Given the description of an element on the screen output the (x, y) to click on. 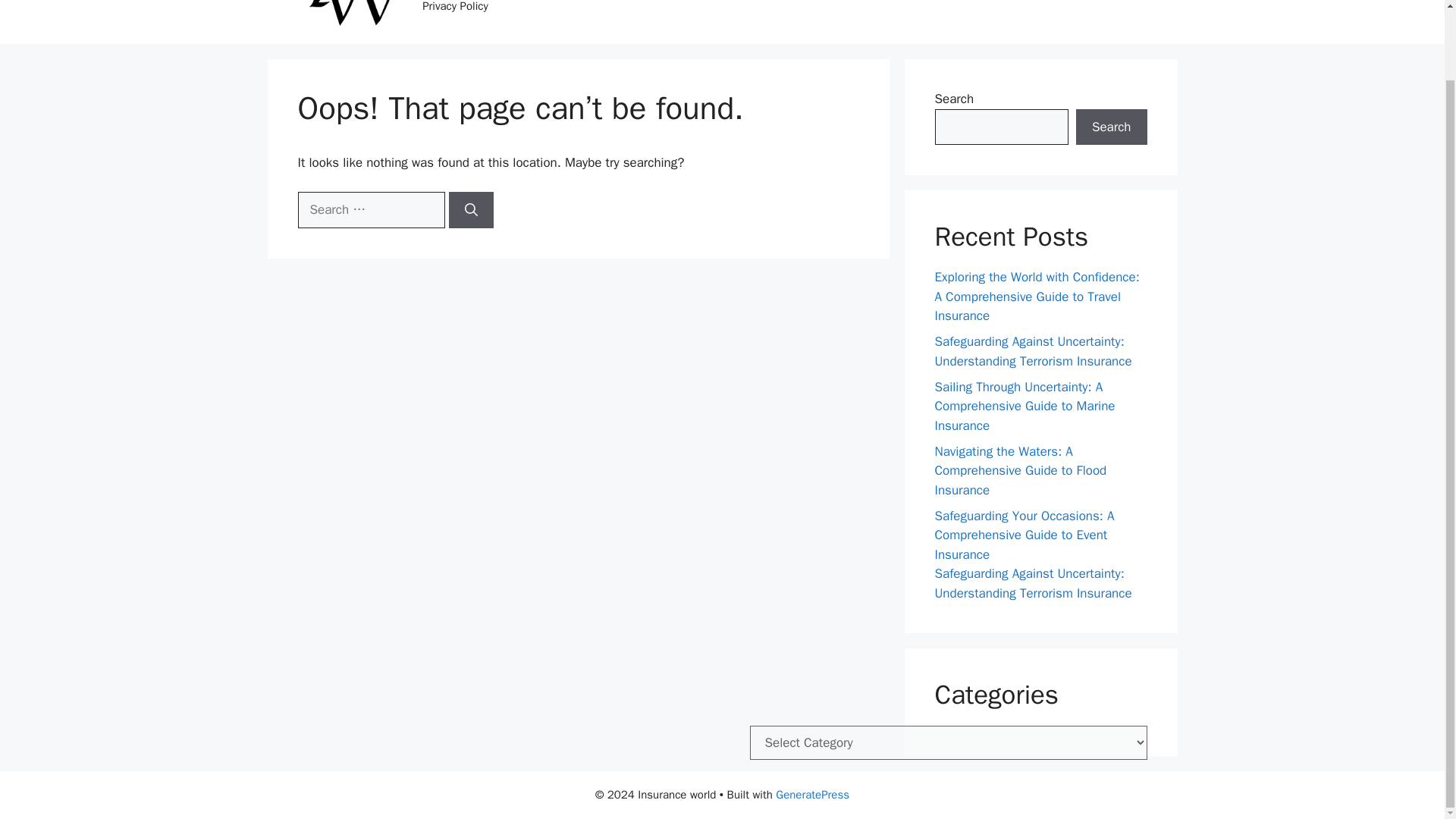
Search for: (370, 209)
Search (1111, 126)
Privacy Policy (455, 14)
